Given the description of an element on the screen output the (x, y) to click on. 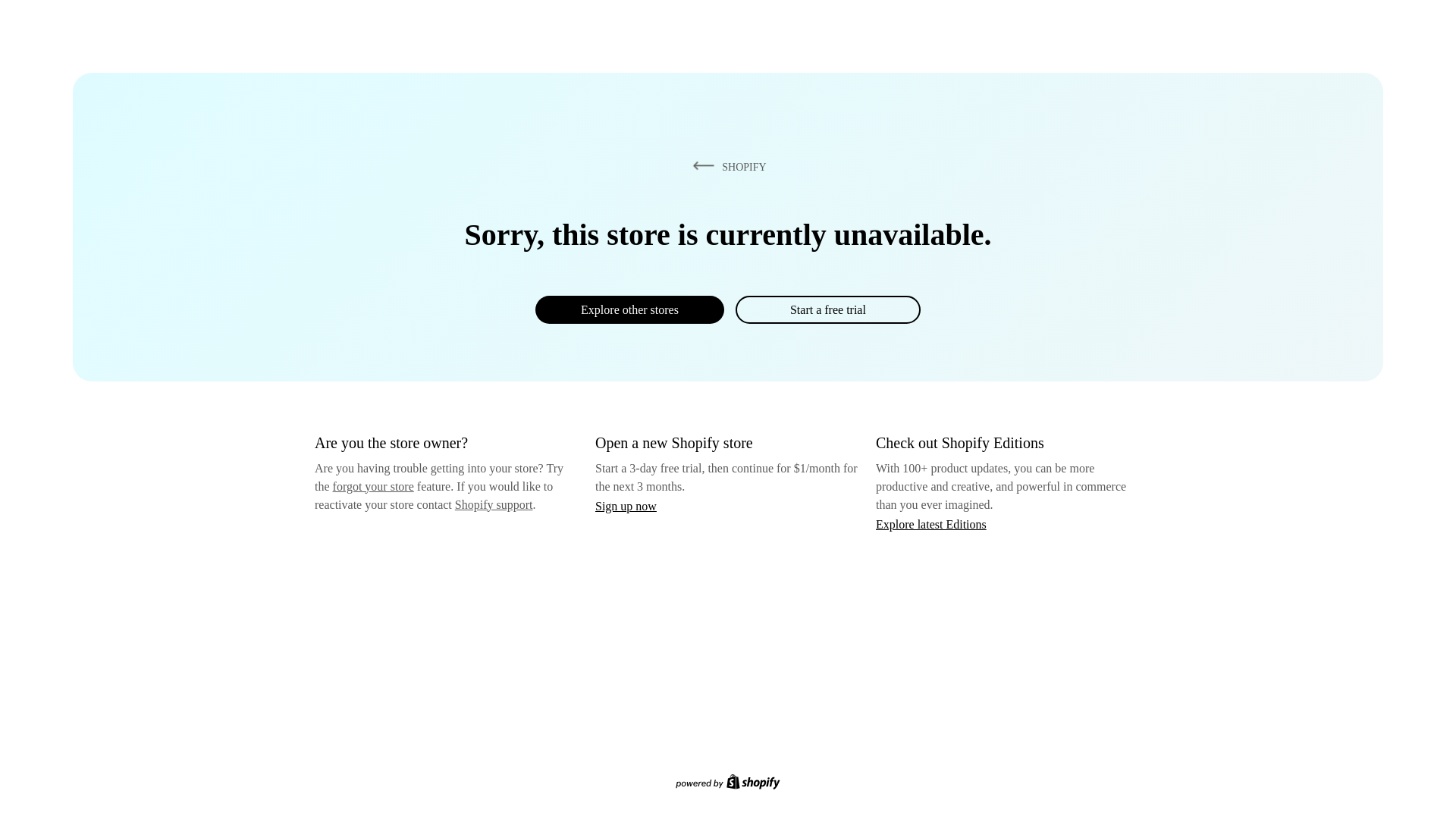
Start a free trial (827, 309)
Shopify support (493, 504)
Explore other stores (629, 309)
Sign up now (625, 505)
Explore latest Editions (931, 523)
forgot your store (373, 486)
SHOPIFY (726, 166)
